Given the description of an element on the screen output the (x, y) to click on. 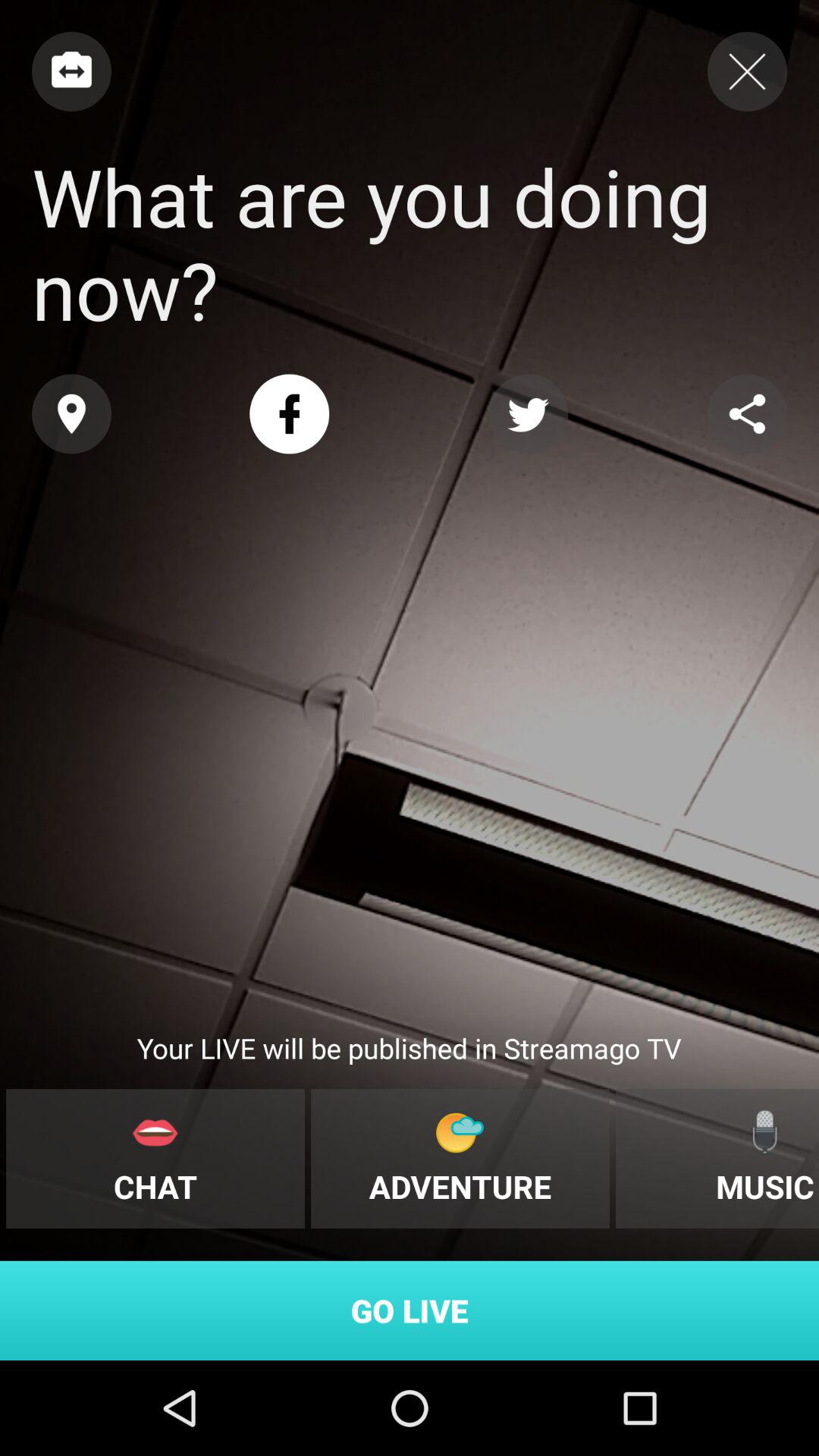
exit (747, 71)
